Given the description of an element on the screen output the (x, y) to click on. 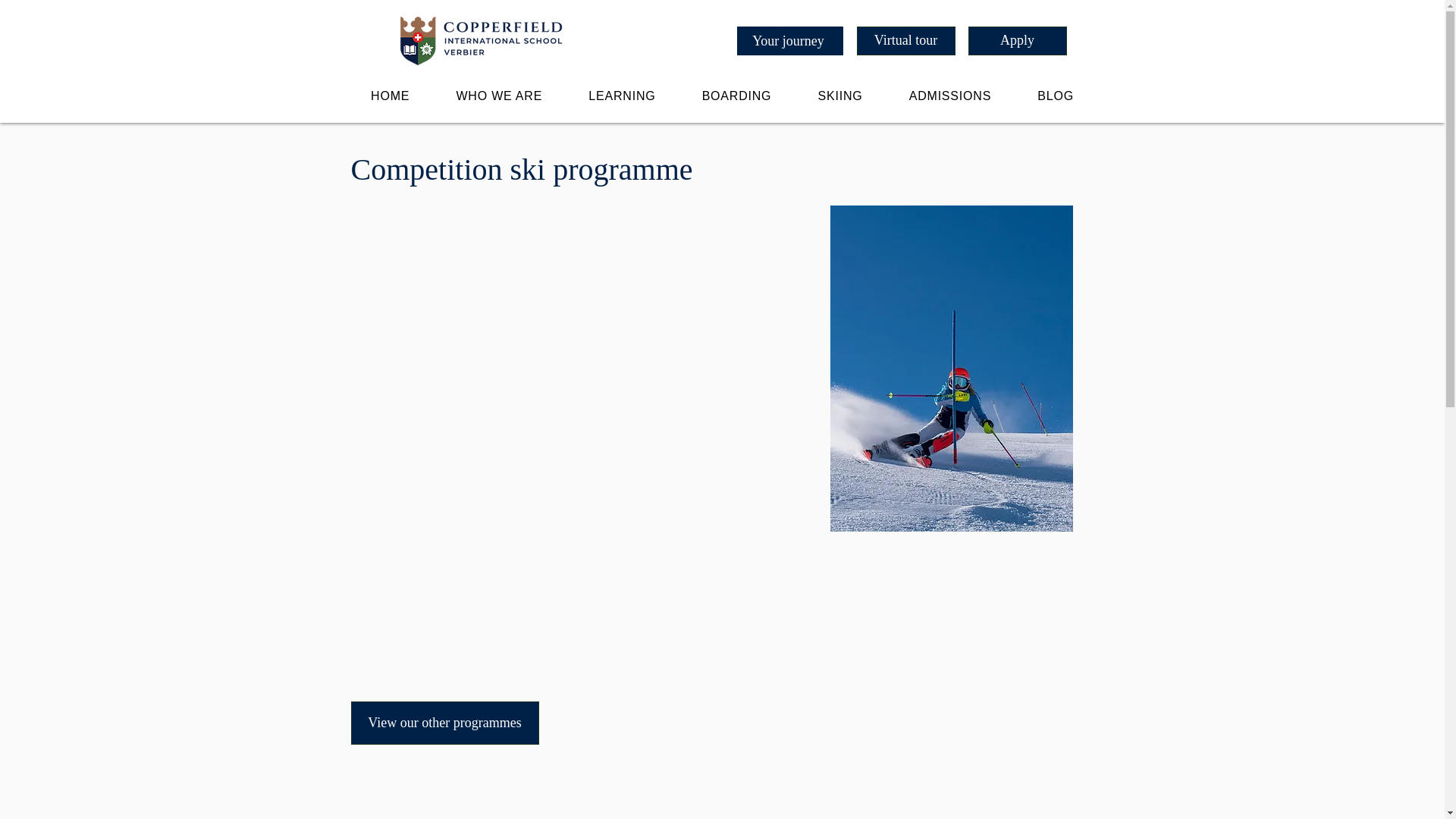
BOARDING (736, 95)
BLOG (1055, 95)
WHO WE ARE (498, 95)
Apply (1016, 40)
SKIING (839, 95)
Virtual tour (906, 40)
Your journey (789, 40)
HOME (389, 95)
ADMISSIONS (949, 95)
View our other programmes (444, 722)
LEARNING (622, 95)
